Given the description of an element on the screen output the (x, y) to click on. 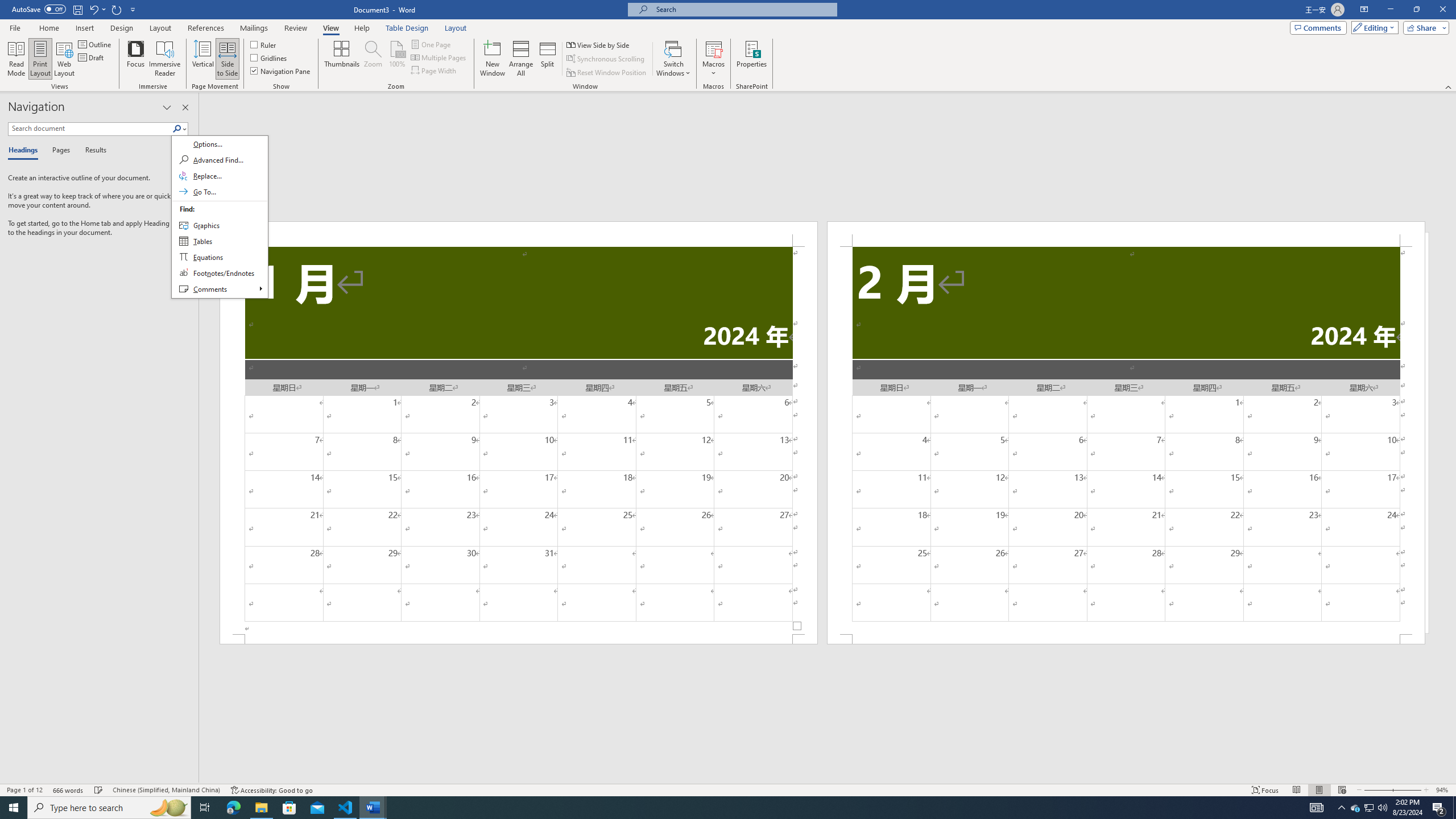
Help (361, 28)
Undo Increase Indent (96, 9)
Search document (89, 128)
Review (295, 28)
Word - 2 running windows (373, 807)
Quick Access Toolbar (74, 9)
Footer -Section 2- (1126, 638)
Insert (83, 28)
Outline (95, 44)
Customize Quick Access Toolbar (133, 9)
Zoom... (372, 58)
Task View (204, 807)
File Explorer - 1 running window (261, 807)
